Given the description of an element on the screen output the (x, y) to click on. 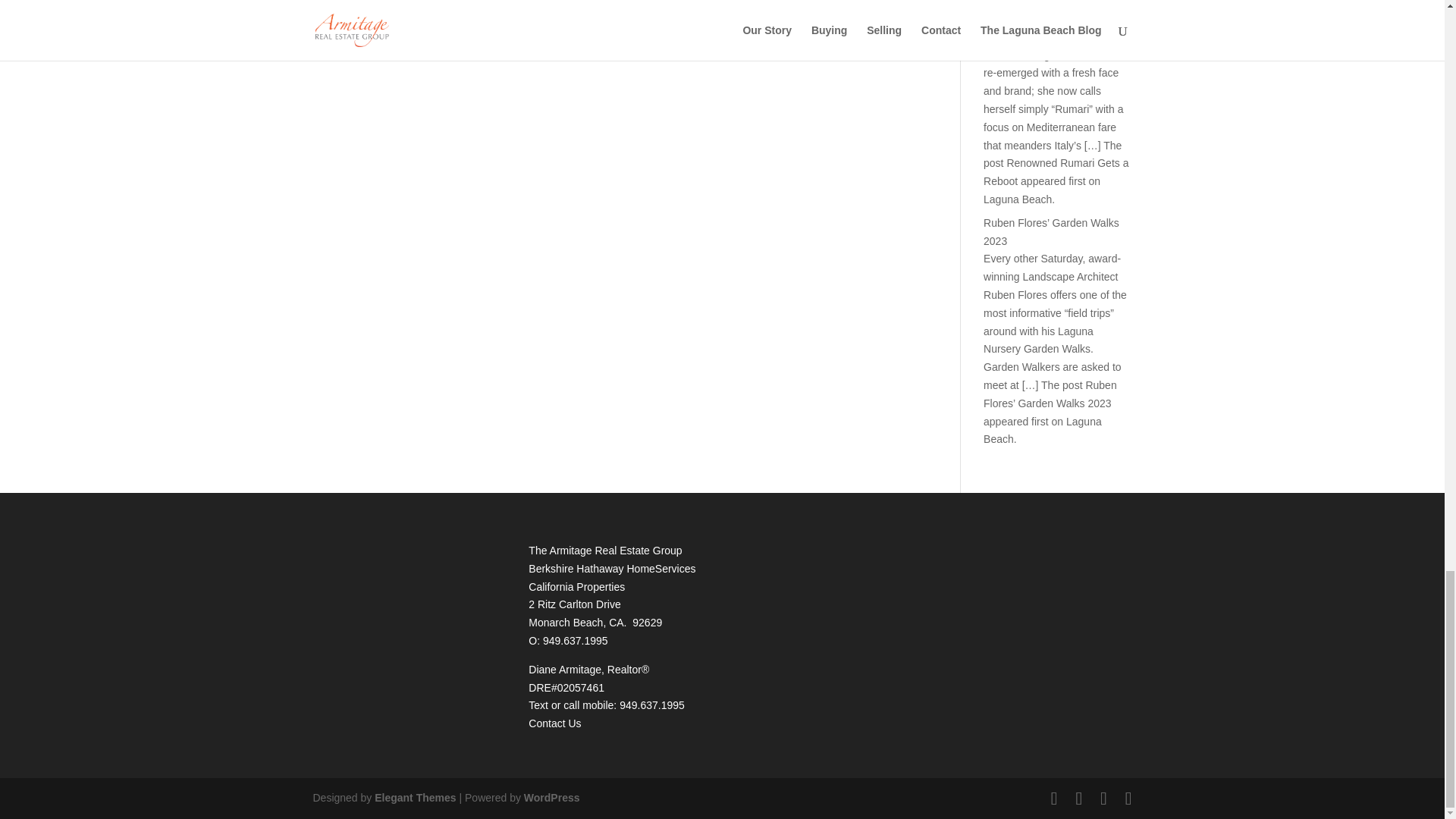
Premium WordPress Themes (414, 797)
WordPress (551, 797)
Elegant Themes (414, 797)
Renowned Rumari Gets a Reboot (1044, 12)
Contact Us (554, 723)
949.637.1995 (652, 705)
